Given the description of an element on the screen output the (x, y) to click on. 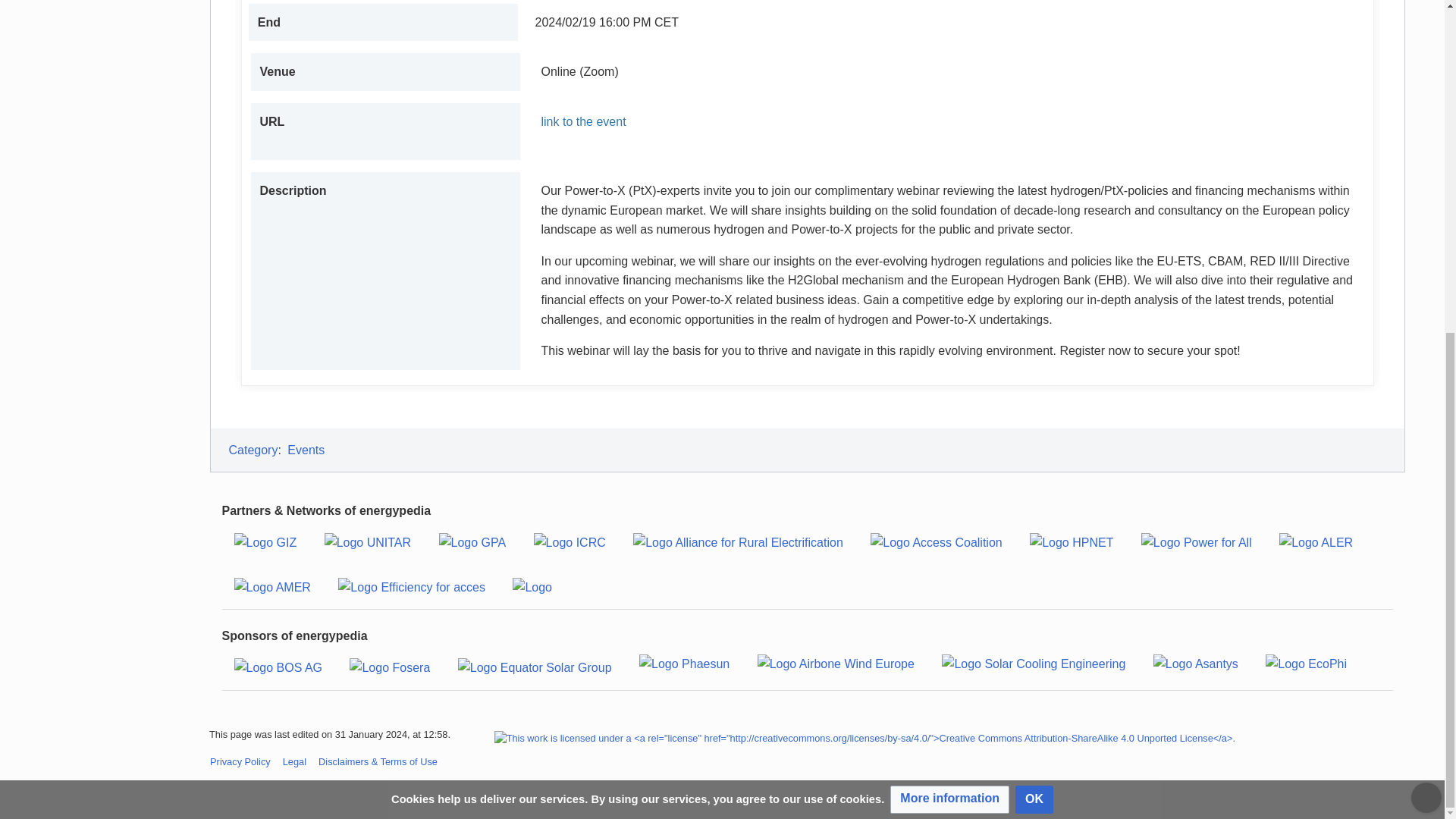
Category (253, 449)
OK (1033, 244)
Events (305, 449)
link to the event (948, 121)
More information (949, 244)
Special:Categories (253, 449)
Category:Events (305, 449)
